Given the description of an element on the screen output the (x, y) to click on. 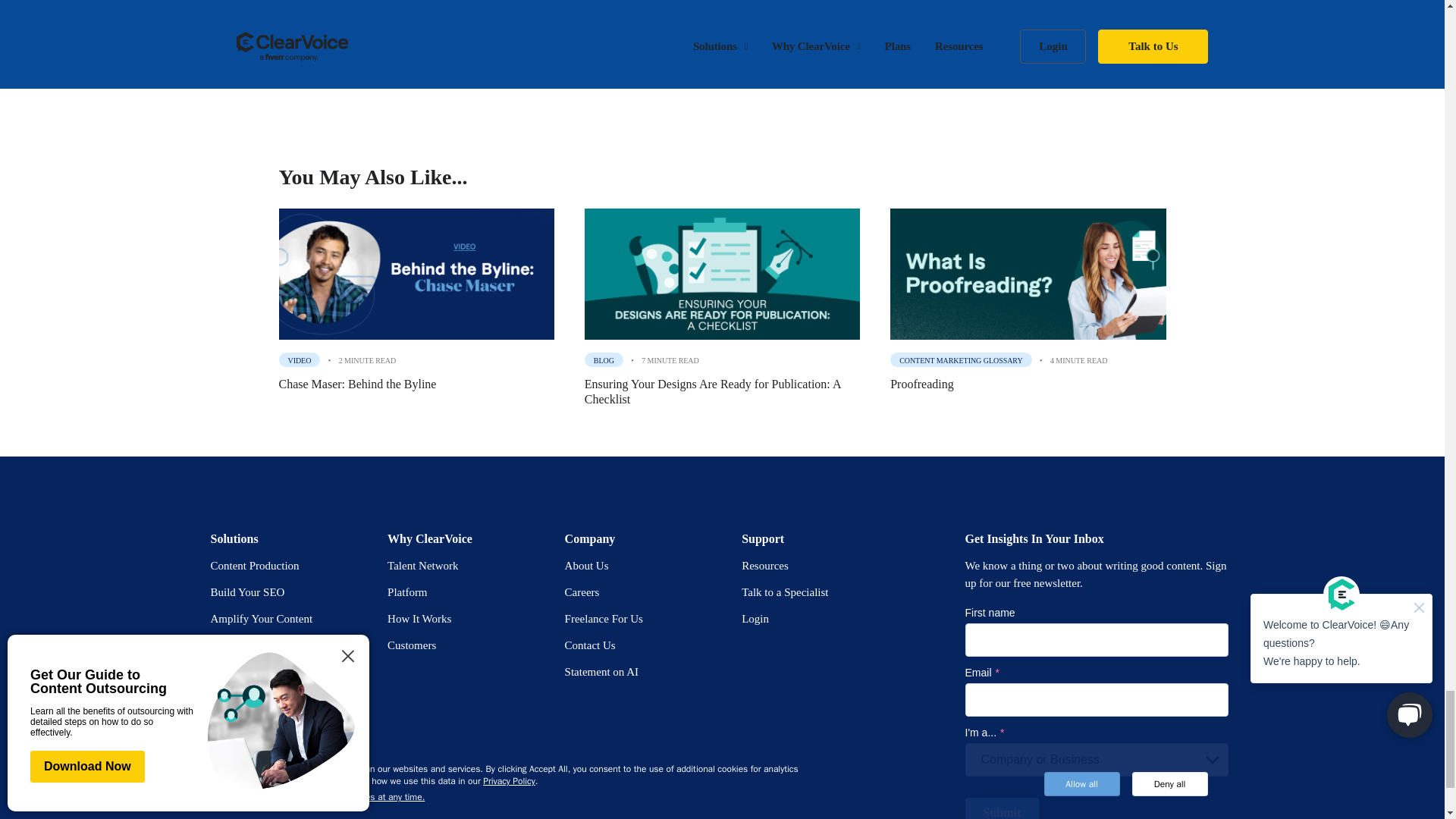
Submit (1001, 808)
